Given the description of an element on the screen output the (x, y) to click on. 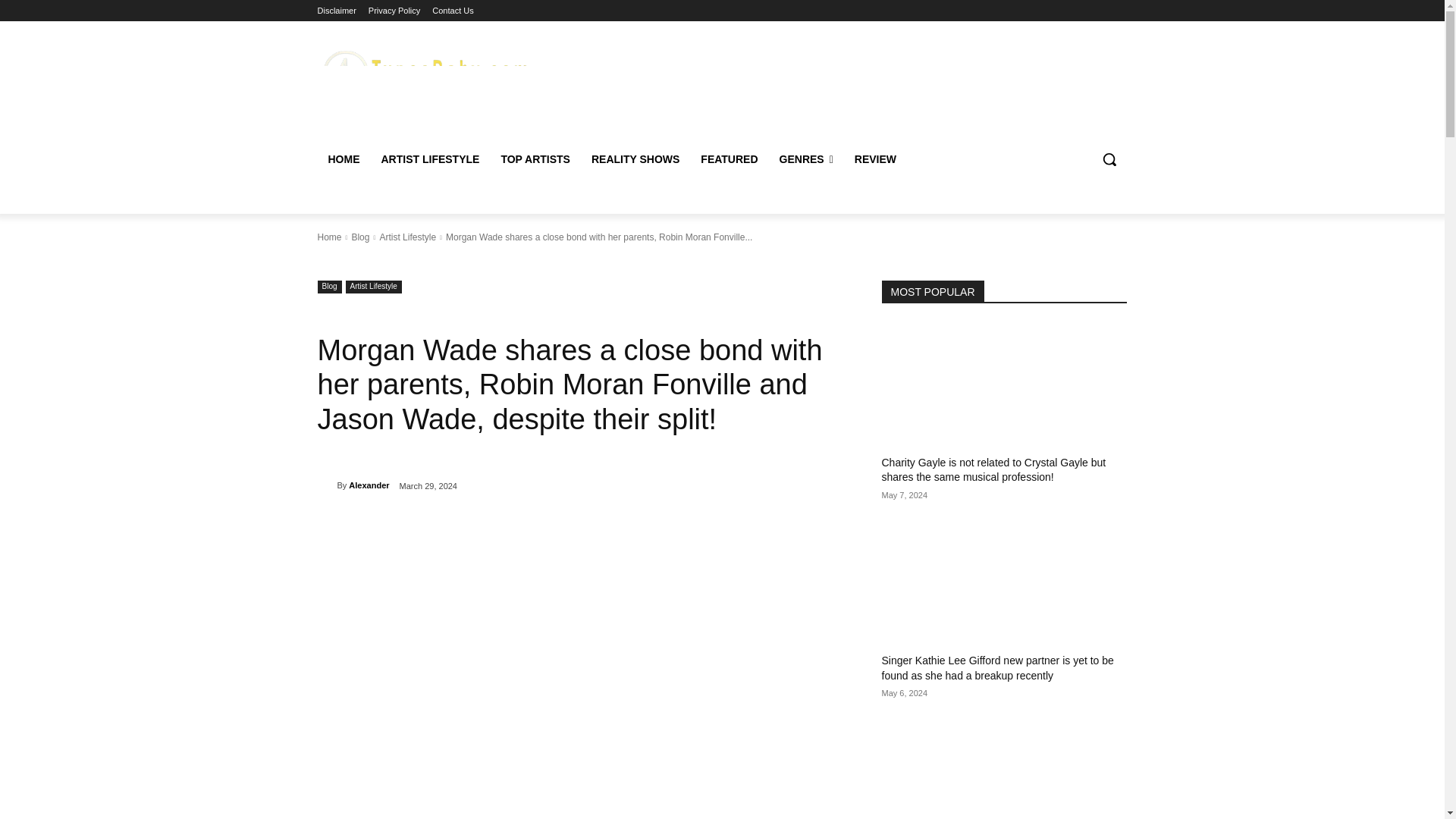
FEATURED (729, 158)
HOME (343, 158)
Privacy Policy (394, 10)
Contact Us (452, 10)
View all posts in Blog (359, 236)
View all posts in Artist Lifestyle (406, 236)
Disclaimer (336, 10)
REALITY SHOWS (635, 158)
TOP ARTISTS (534, 158)
